Given the description of an element on the screen output the (x, y) to click on. 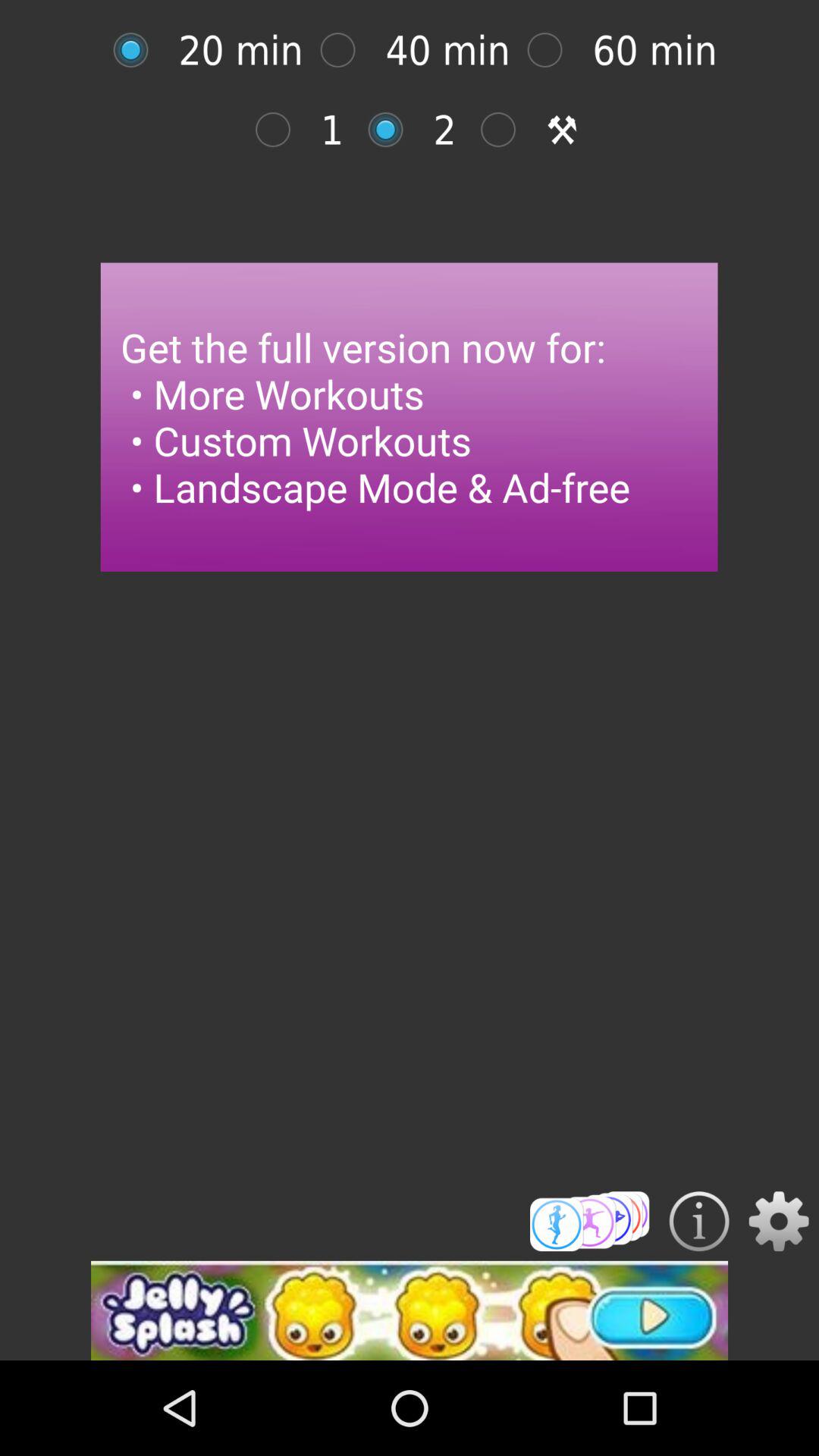
select workout (589, 1221)
